Given the description of an element on the screen output the (x, y) to click on. 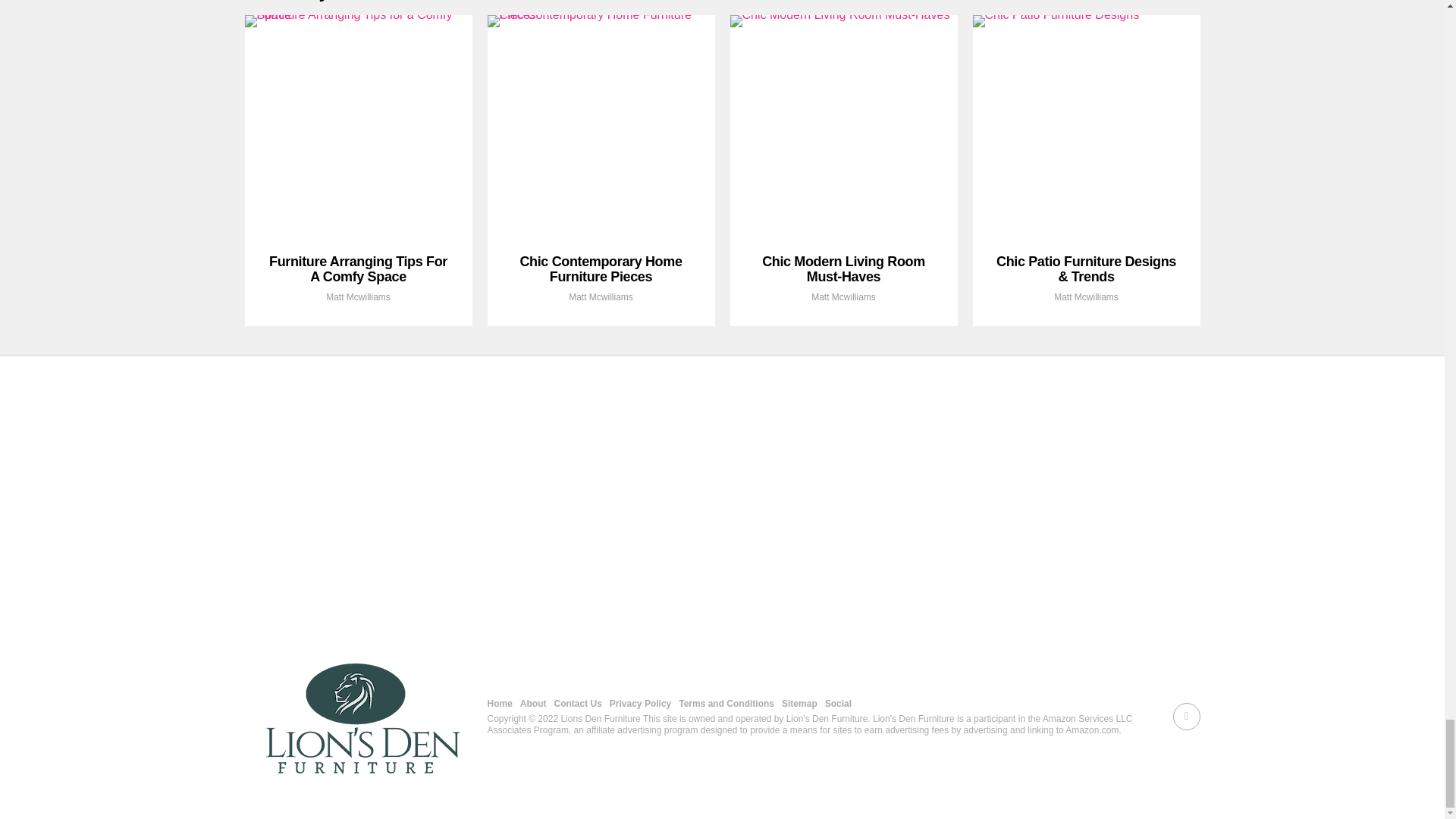
Posts by Matt Mcwilliams (601, 296)
Posts by Matt Mcwilliams (358, 296)
Posts by Matt Mcwilliams (1086, 296)
Posts by Matt Mcwilliams (843, 296)
